Given the description of an element on the screen output the (x, y) to click on. 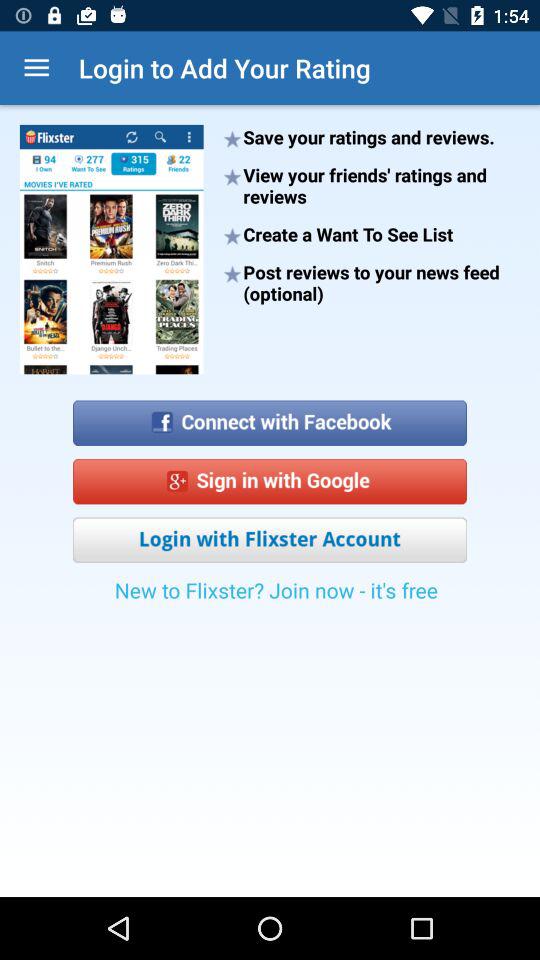
click icon next to login to add icon (36, 68)
